Given the description of an element on the screen output the (x, y) to click on. 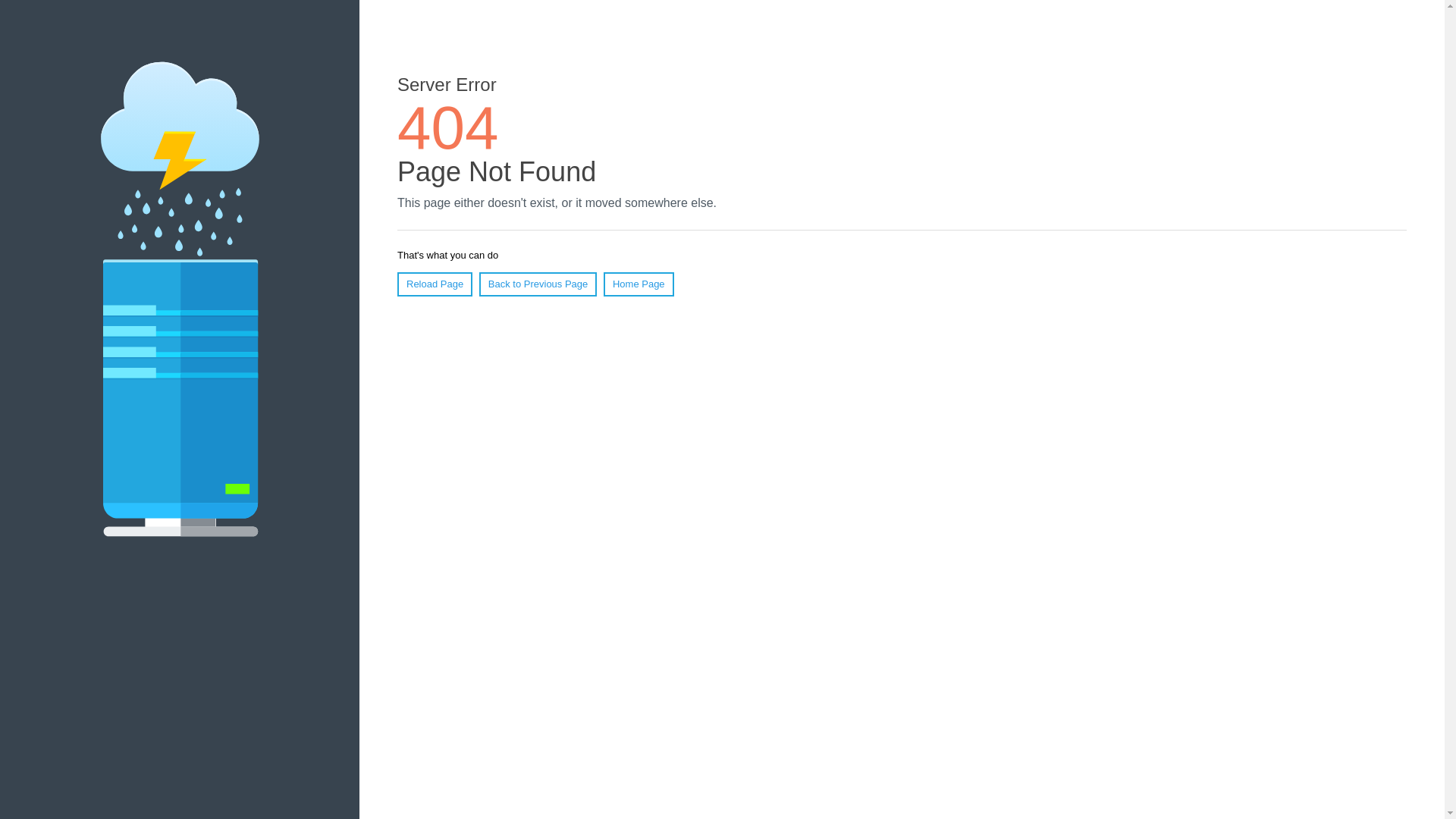
Home Page Element type: text (638, 284)
Back to Previous Page Element type: text (538, 284)
Reload Page Element type: text (434, 284)
